Given the description of an element on the screen output the (x, y) to click on. 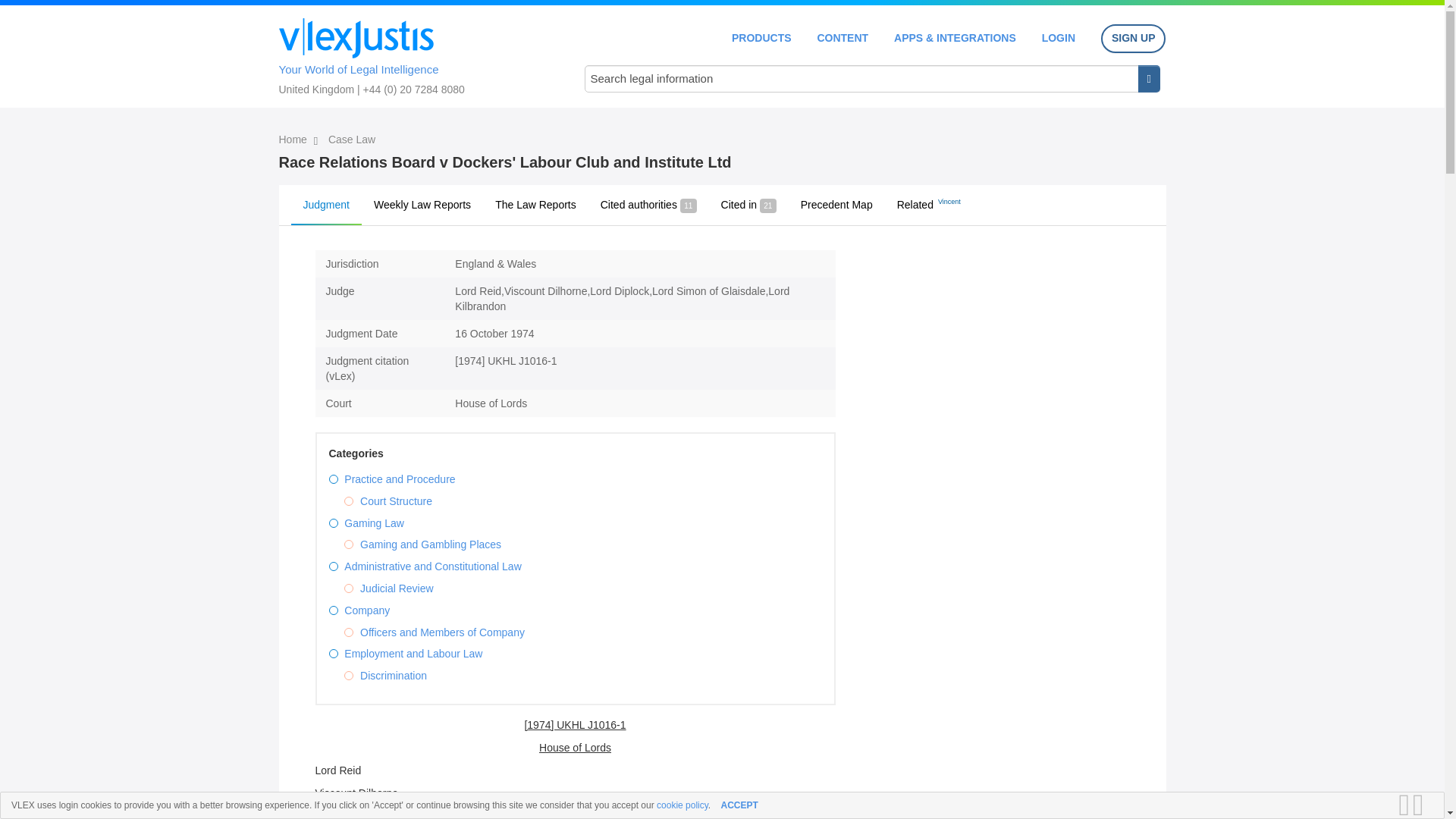
CONTENT (841, 37)
Administrative and Constitutional Law (432, 566)
Discrimination (392, 675)
SIGN UP (1133, 38)
Case Law (352, 139)
LOGIN (1058, 37)
Your World of Legal Intelligence (416, 53)
Practice and Procedure (398, 479)
PRODUCTS (762, 37)
Judicial Review (395, 588)
